Given the description of an element on the screen output the (x, y) to click on. 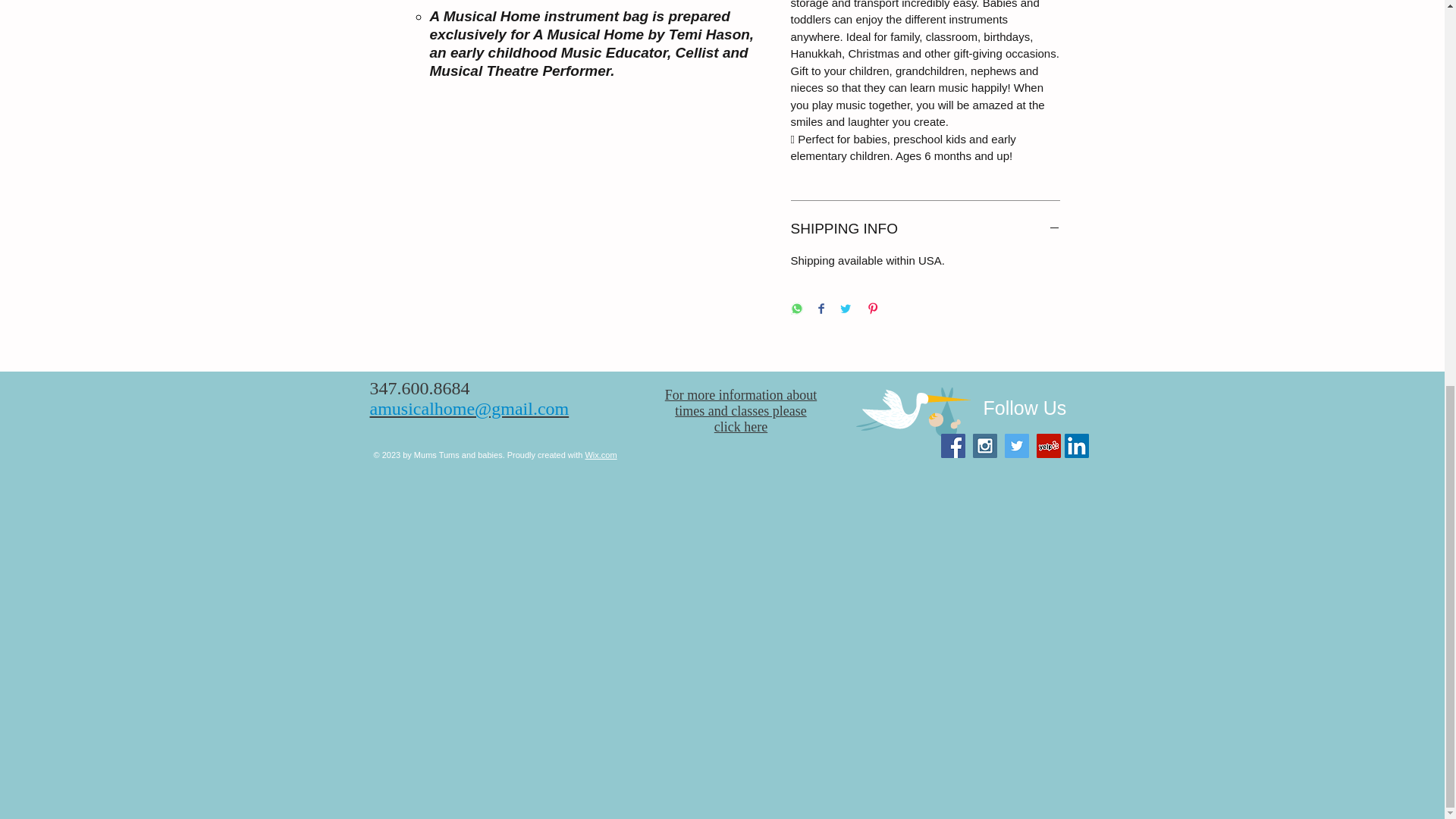
SHIPPING INFO (924, 229)
Wix.com (600, 454)
